Given the description of an element on the screen output the (x, y) to click on. 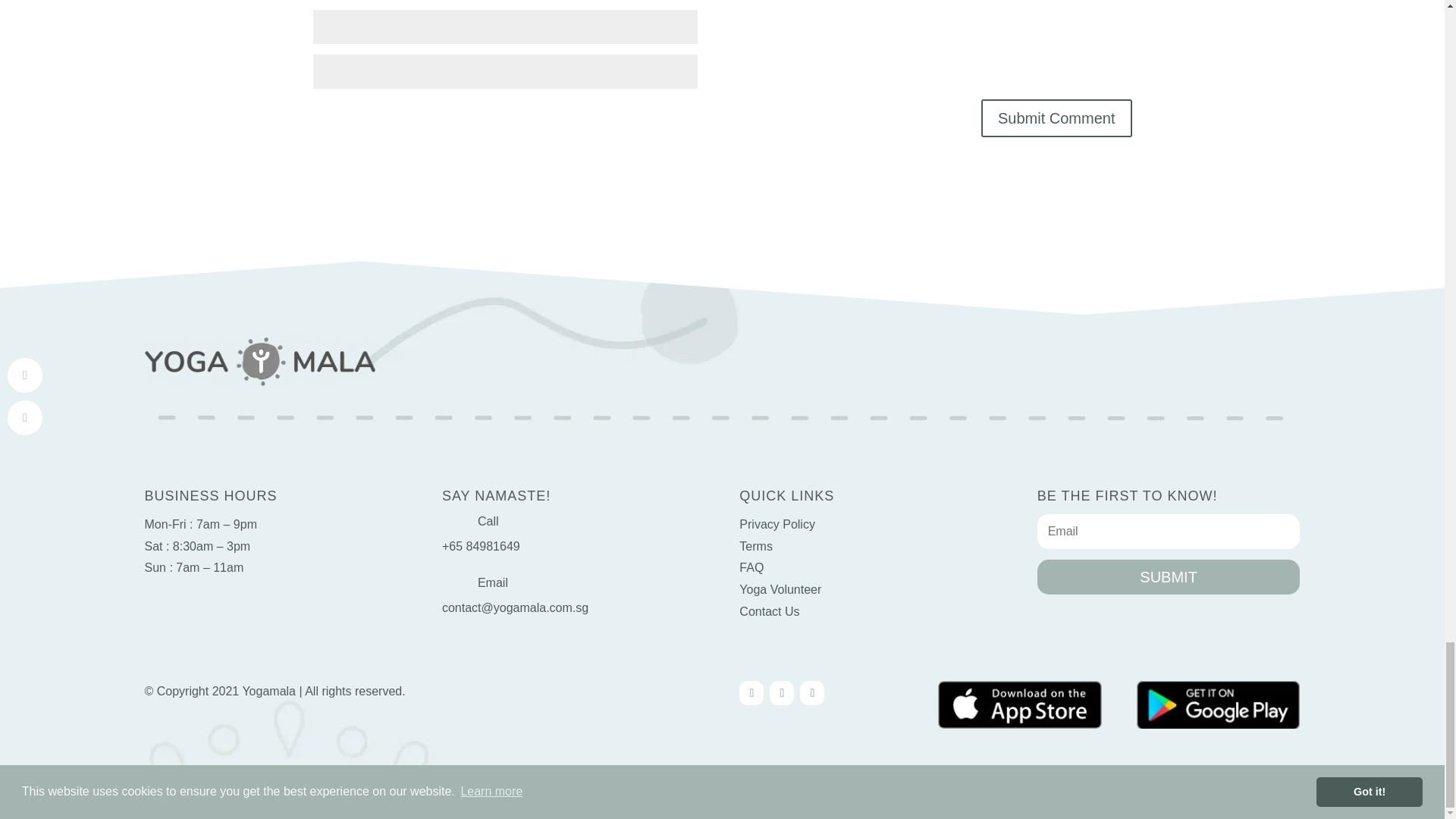
yogamala (259, 360)
app store (1019, 704)
Follow on Twitter (781, 692)
Follow on Facebook (750, 692)
Follow on Instagram (811, 692)
Submit Comment (1056, 118)
dotted line (722, 415)
play store (1218, 704)
